Given the description of an element on the screen output the (x, y) to click on. 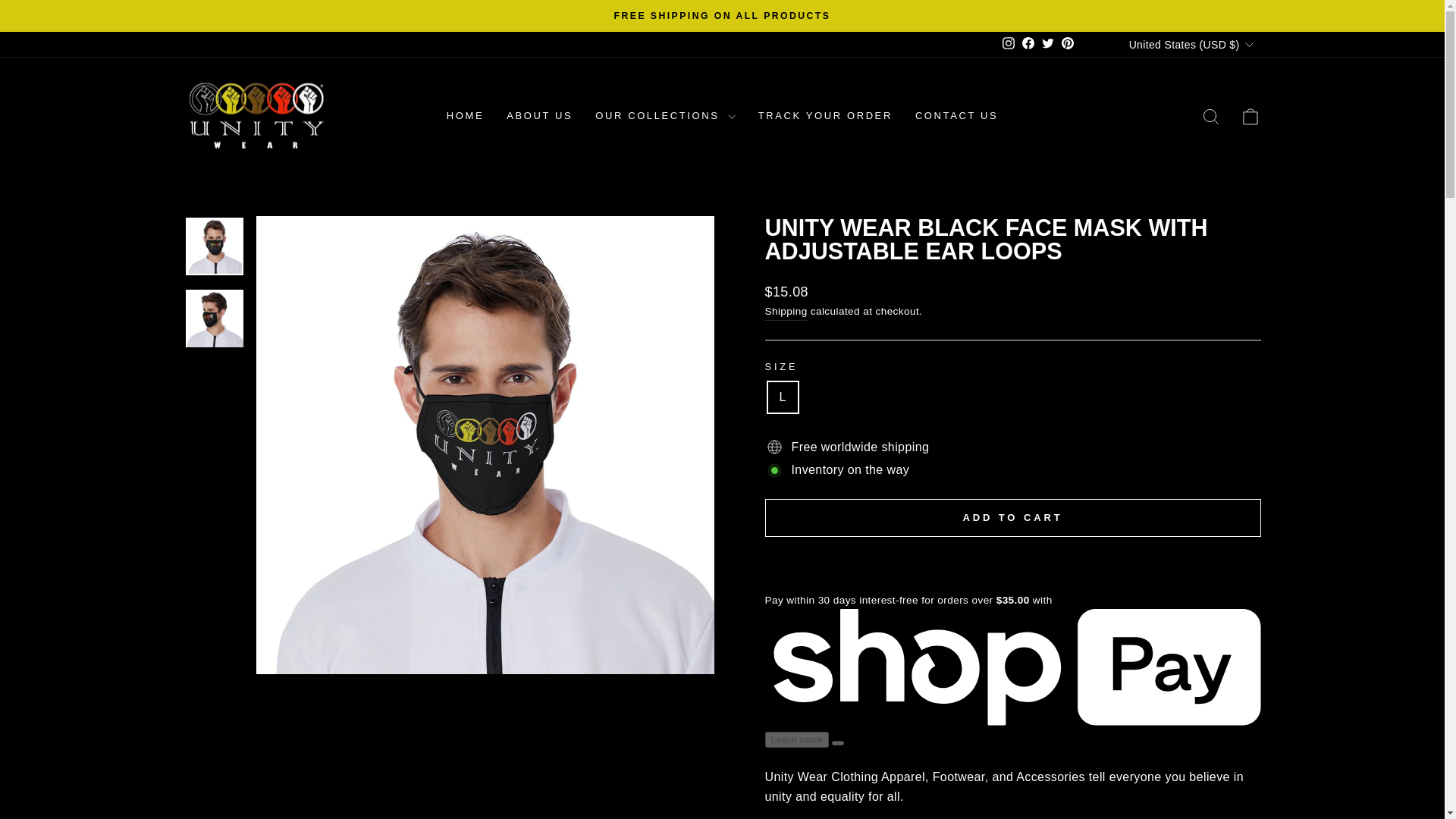
instagram (1008, 42)
twitter (1048, 42)
ICON-SEARCH (1210, 116)
ICON-BAG-MINIMAL (1249, 116)
